Given the description of an element on the screen output the (x, y) to click on. 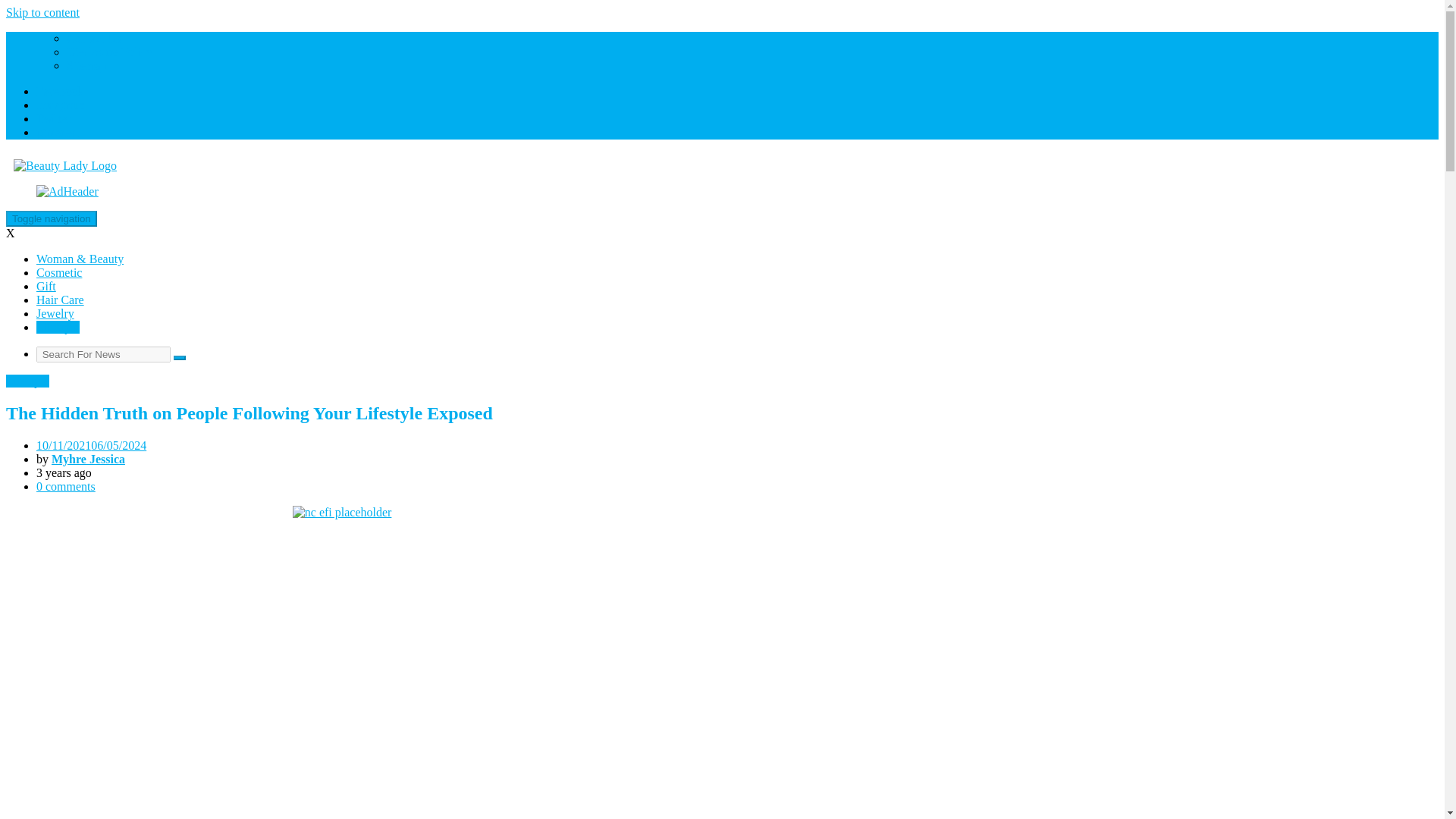
Myhre Jessica (87, 459)
Skip to content (42, 11)
Disclosure Policy (109, 51)
Instagram (60, 104)
Toggle navigation (51, 218)
pinterest (57, 132)
Twitter (53, 118)
Jewelry (55, 313)
Hair Care (60, 299)
Sitemap (86, 65)
Cosmetic (58, 272)
Gift (46, 286)
Contact Us (93, 38)
Lifestyle (58, 327)
